Given the description of an element on the screen output the (x, y) to click on. 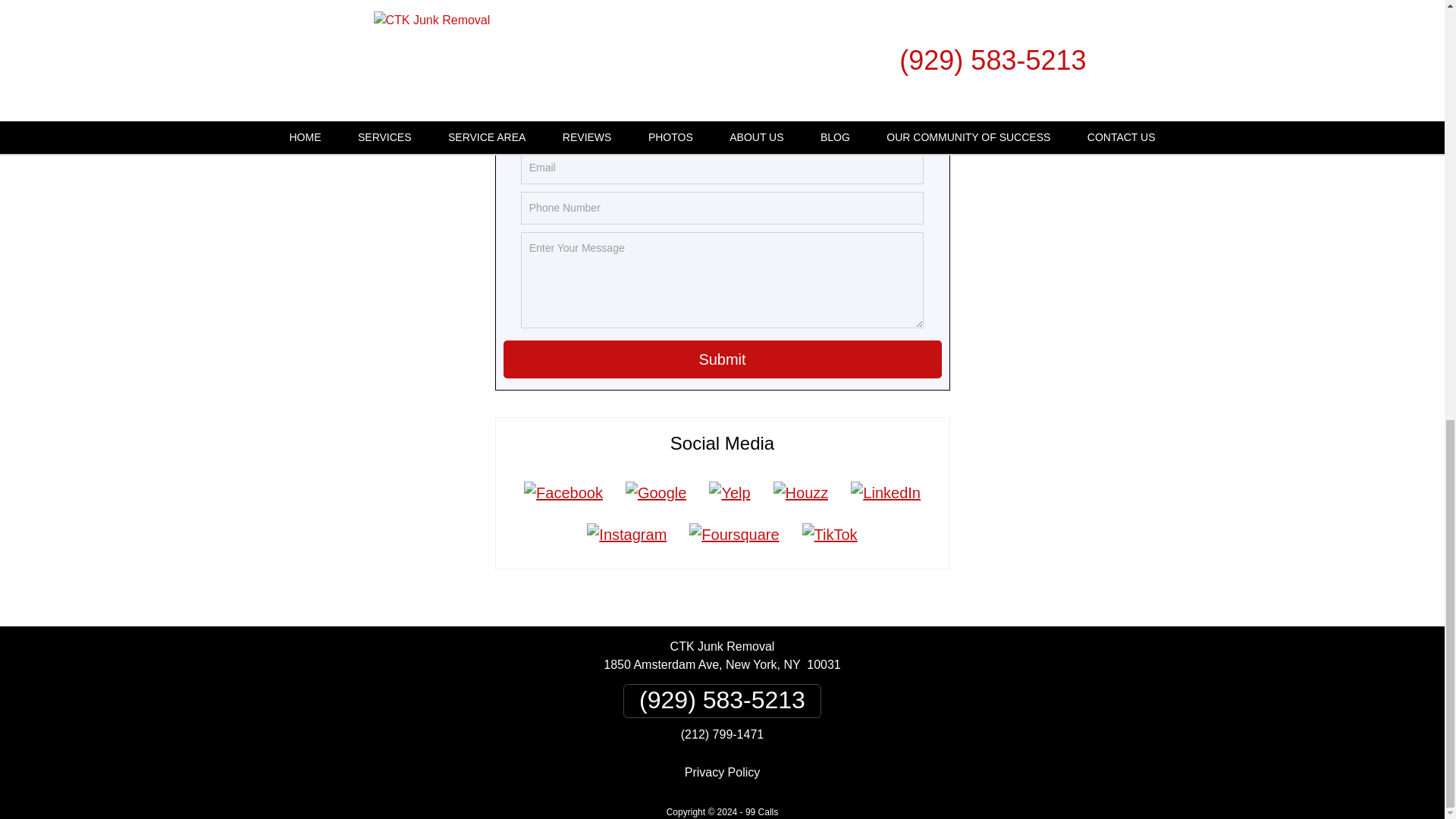
Facebook (563, 492)
Yelp (729, 492)
TikTok (829, 534)
Submit (722, 359)
Foursquare (734, 534)
Instagram (626, 534)
Houzz (800, 492)
LinkedIn (885, 492)
Google (656, 492)
